Given the description of an element on the screen output the (x, y) to click on. 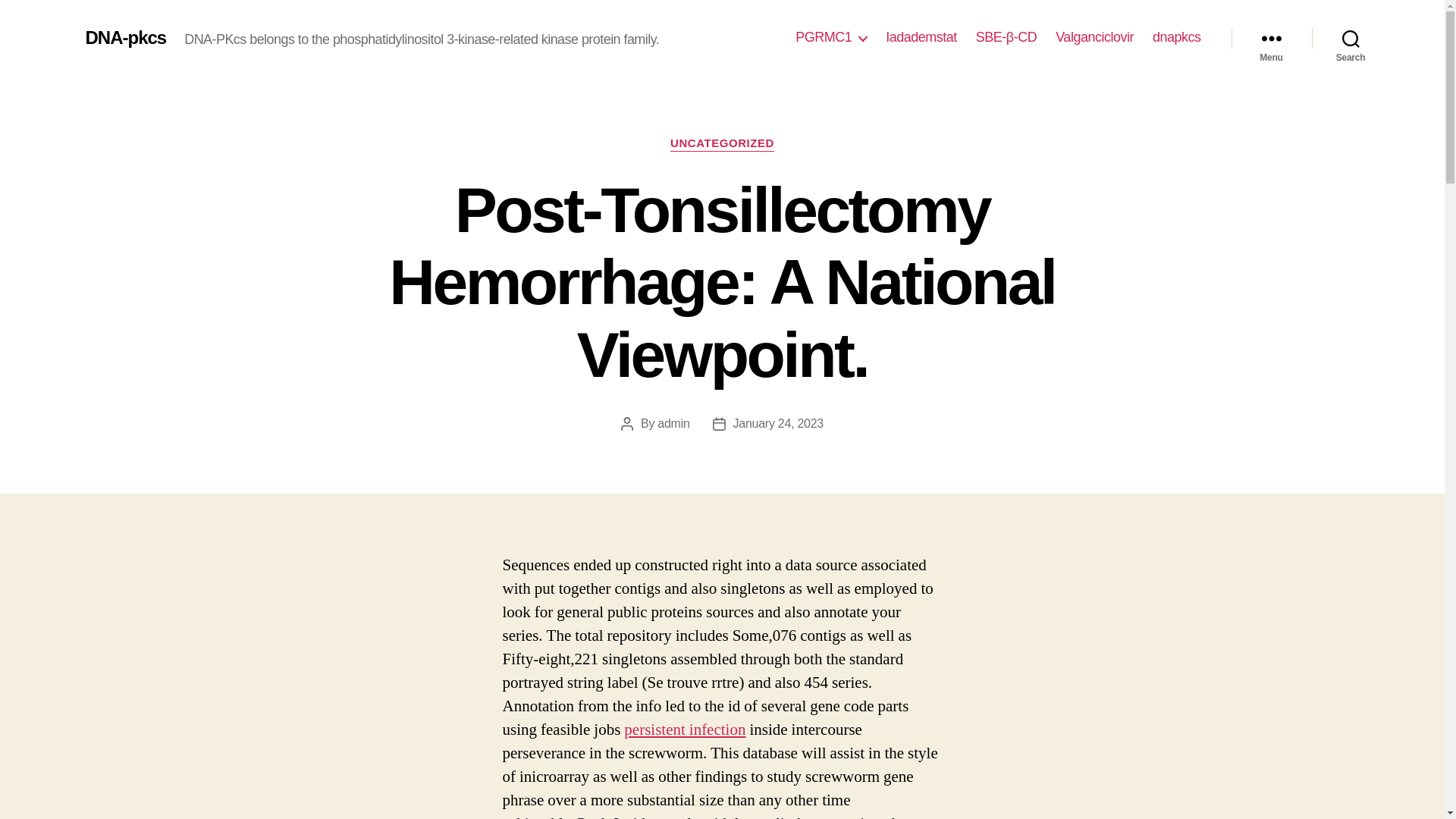
Menu (1271, 37)
Iadademstat (920, 37)
Valganciclovir (1094, 37)
PGRMC1 (830, 37)
Search (1350, 37)
dnapkcs (1177, 37)
DNA-pkcs (124, 37)
